Given the description of an element on the screen output the (x, y) to click on. 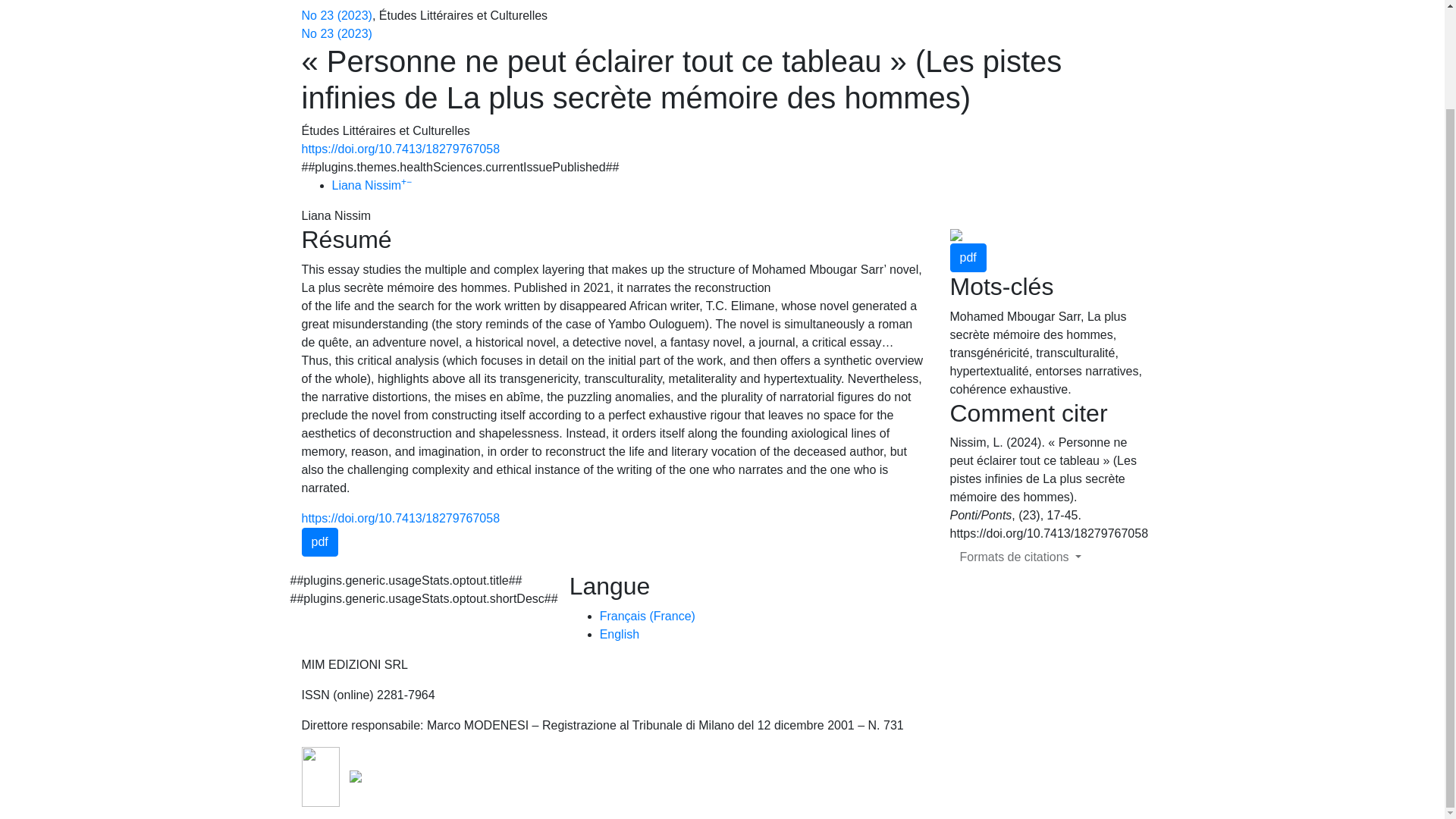
pdf (967, 257)
Formats de citations (1019, 556)
pdf (319, 541)
